Given the description of an element on the screen output the (x, y) to click on. 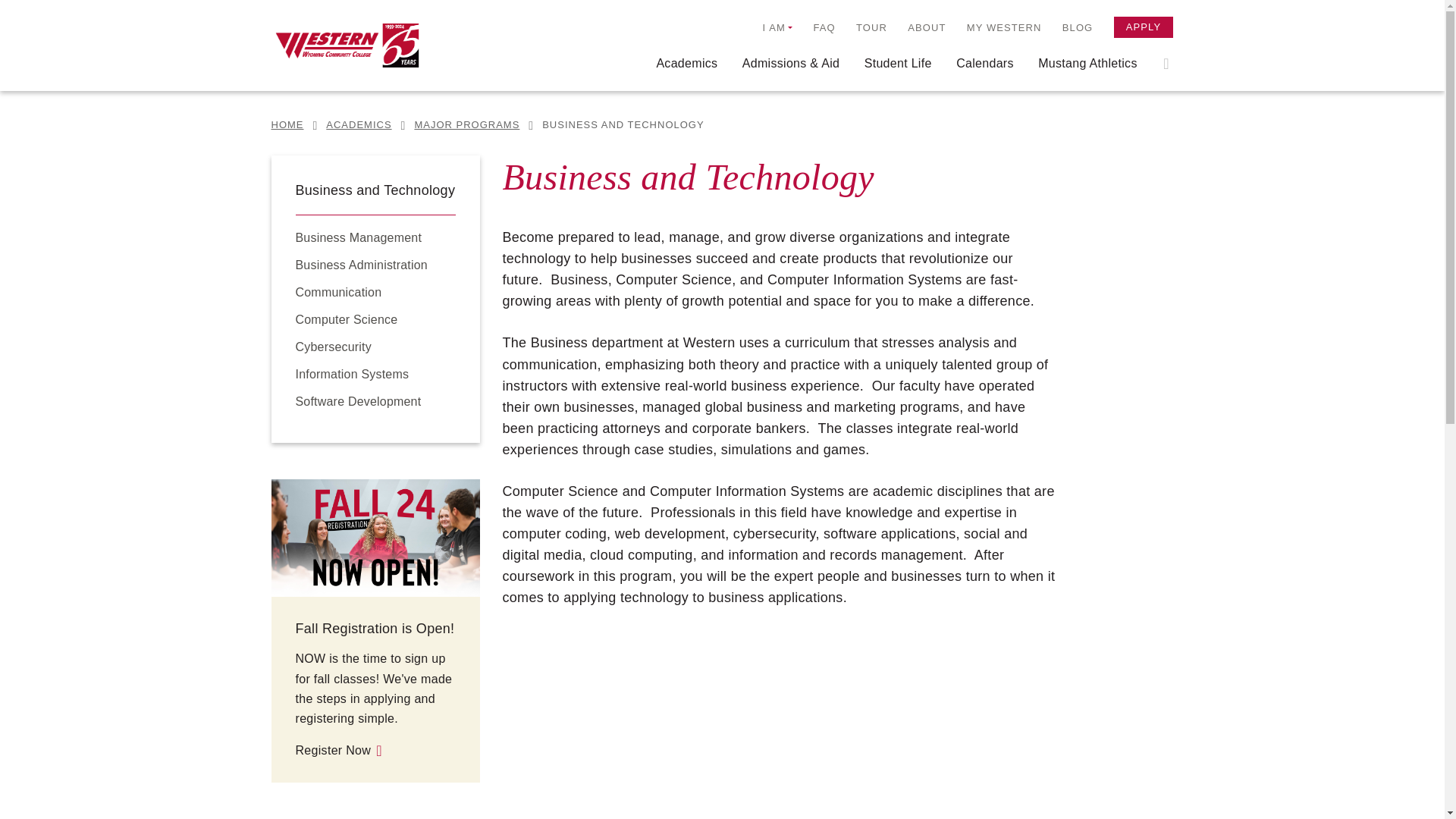
I AM (777, 27)
Business (361, 264)
Computer Science (346, 318)
BLOG (1077, 27)
Information Systems (352, 373)
FAQ (823, 27)
Business (358, 237)
Academics (686, 71)
APPLY (1143, 26)
TOUR (871, 27)
